Given the description of an element on the screen output the (x, y) to click on. 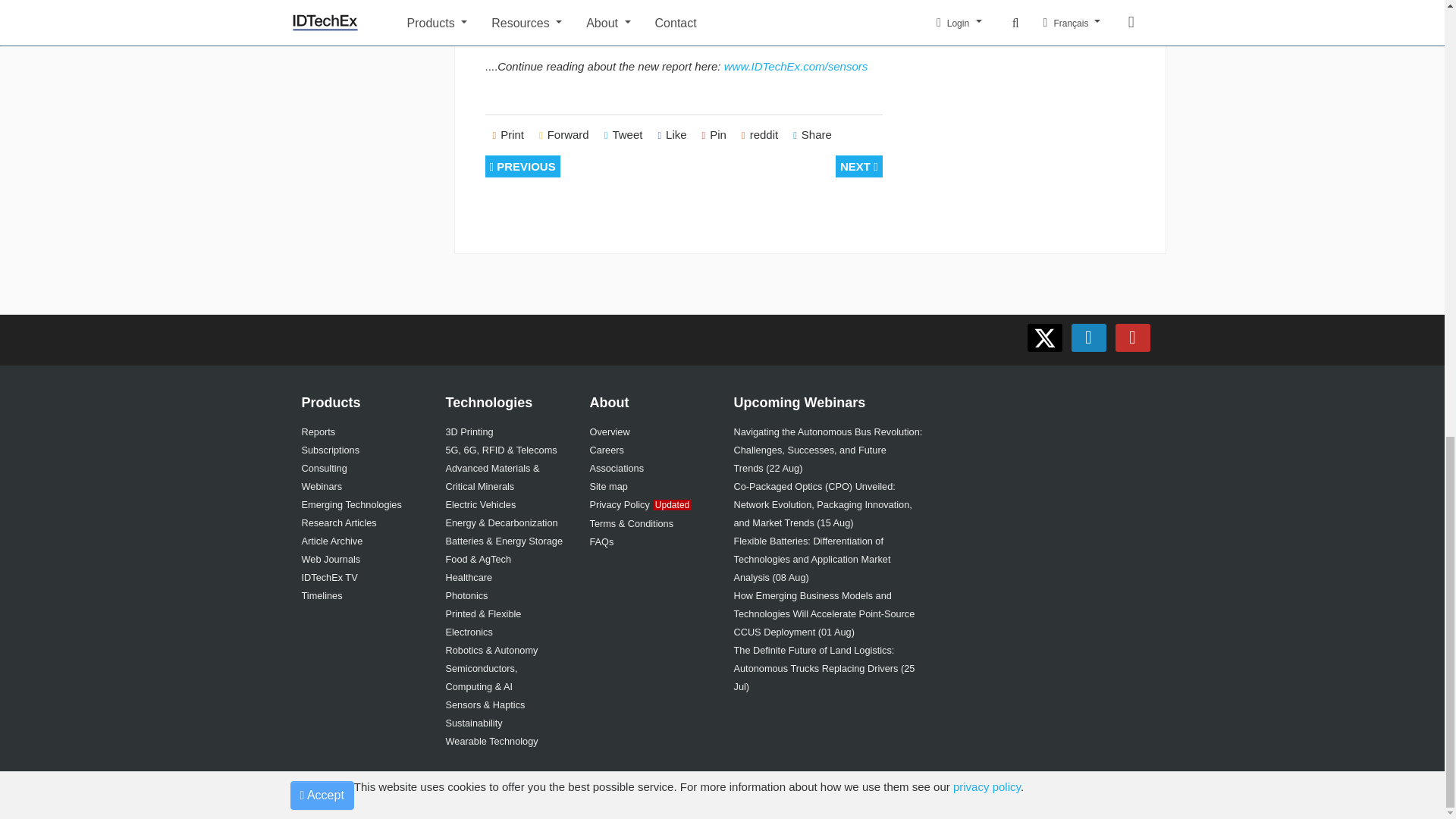
3D Printing (469, 431)
Timelines (321, 595)
Web Journals (331, 559)
Research Articles (339, 522)
Share on LinkedIn (813, 135)
Subscriptions (330, 449)
Article Archive (331, 541)
Reports (318, 431)
Share on Pinterest (713, 135)
Print Article (508, 135)
Share on Twitter (623, 135)
IDTechEx TV (329, 577)
Emerging Technologies (351, 504)
Share on Reddit (759, 135)
Forward to a Friend (563, 135)
